Given the description of an element on the screen output the (x, y) to click on. 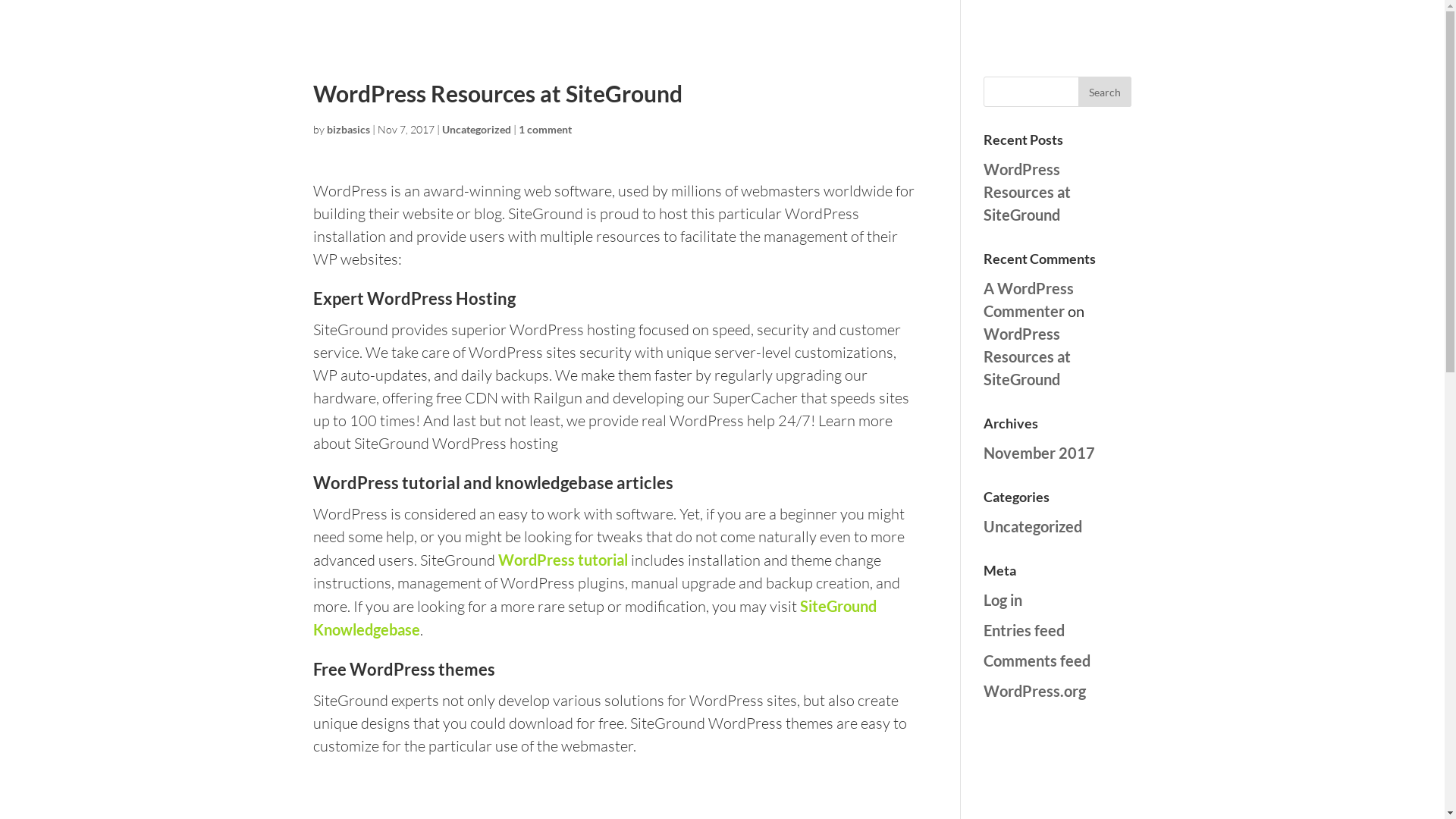
WordPress.org Element type: text (1034, 690)
Entries feed Element type: text (1023, 630)
WordPress Resources at SiteGround Element type: text (1026, 356)
A WordPress Commenter Element type: text (1028, 299)
November 2017 Element type: text (1039, 452)
Free WordPress themes Element type: text (403, 668)
bizbasics Element type: text (347, 128)
WordPress Hosting Element type: text (441, 298)
Uncategorized Element type: text (475, 128)
WordPress tutorial Element type: text (562, 559)
1 comment Element type: text (544, 128)
Log in Element type: text (1002, 599)
WordPress Resources at SiteGround Element type: text (1026, 191)
Search Element type: text (1104, 91)
Uncategorized Element type: text (1032, 526)
SiteGround Knowledgebase Element type: text (593, 617)
Comments feed Element type: text (1036, 660)
